Given the description of an element on the screen output the (x, y) to click on. 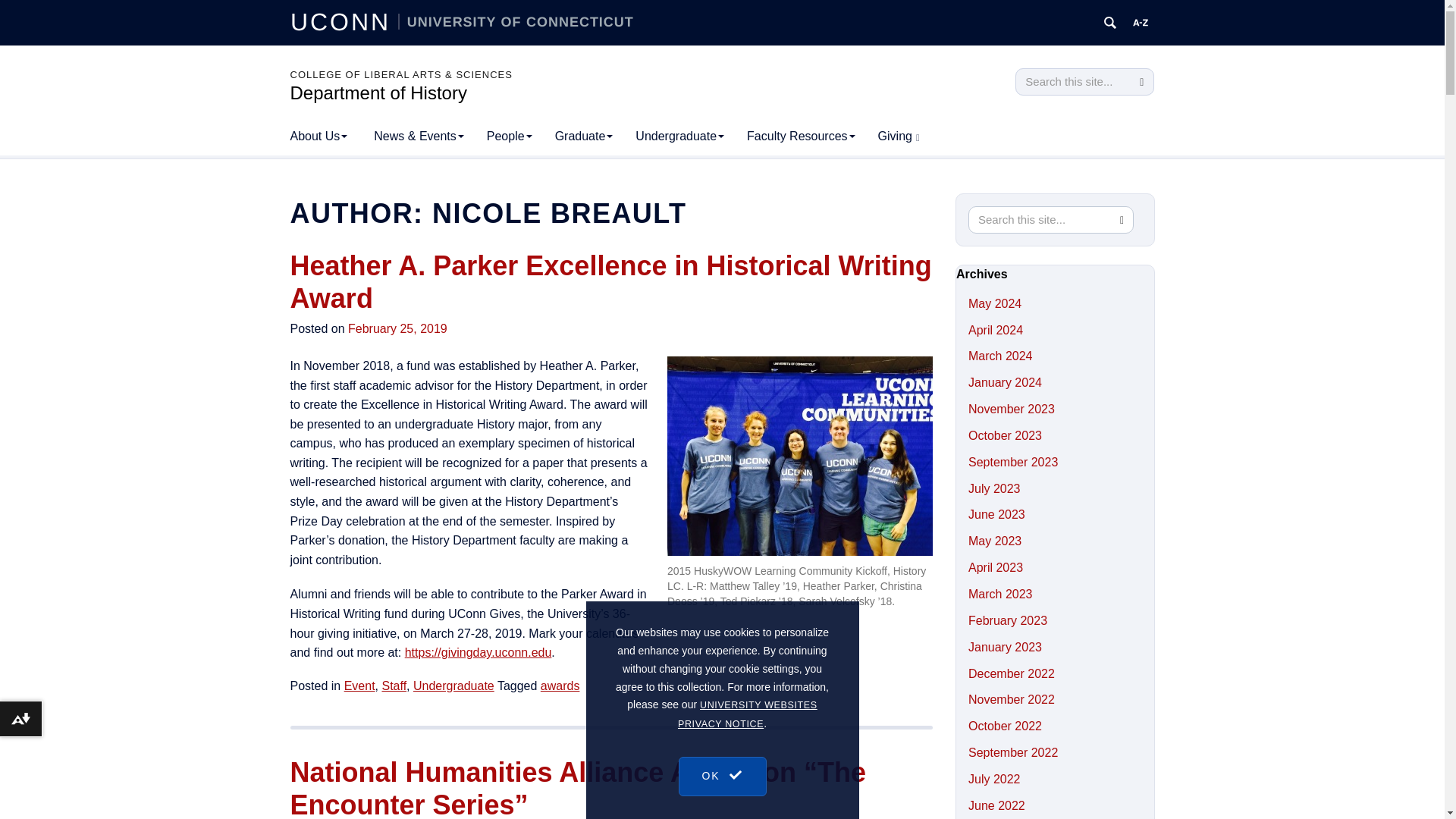
People (509, 136)
Graduate (583, 136)
Search (1141, 81)
Department of History (377, 92)
UCONN (343, 21)
Search (1141, 81)
UNIVERSITY OF CONNECTICUT (515, 21)
Search UConn (1109, 22)
UConn A to Z Index (1140, 22)
About Us (318, 136)
Search this site...  (1040, 219)
Search this site...  (1072, 81)
